Given the description of an element on the screen output the (x, y) to click on. 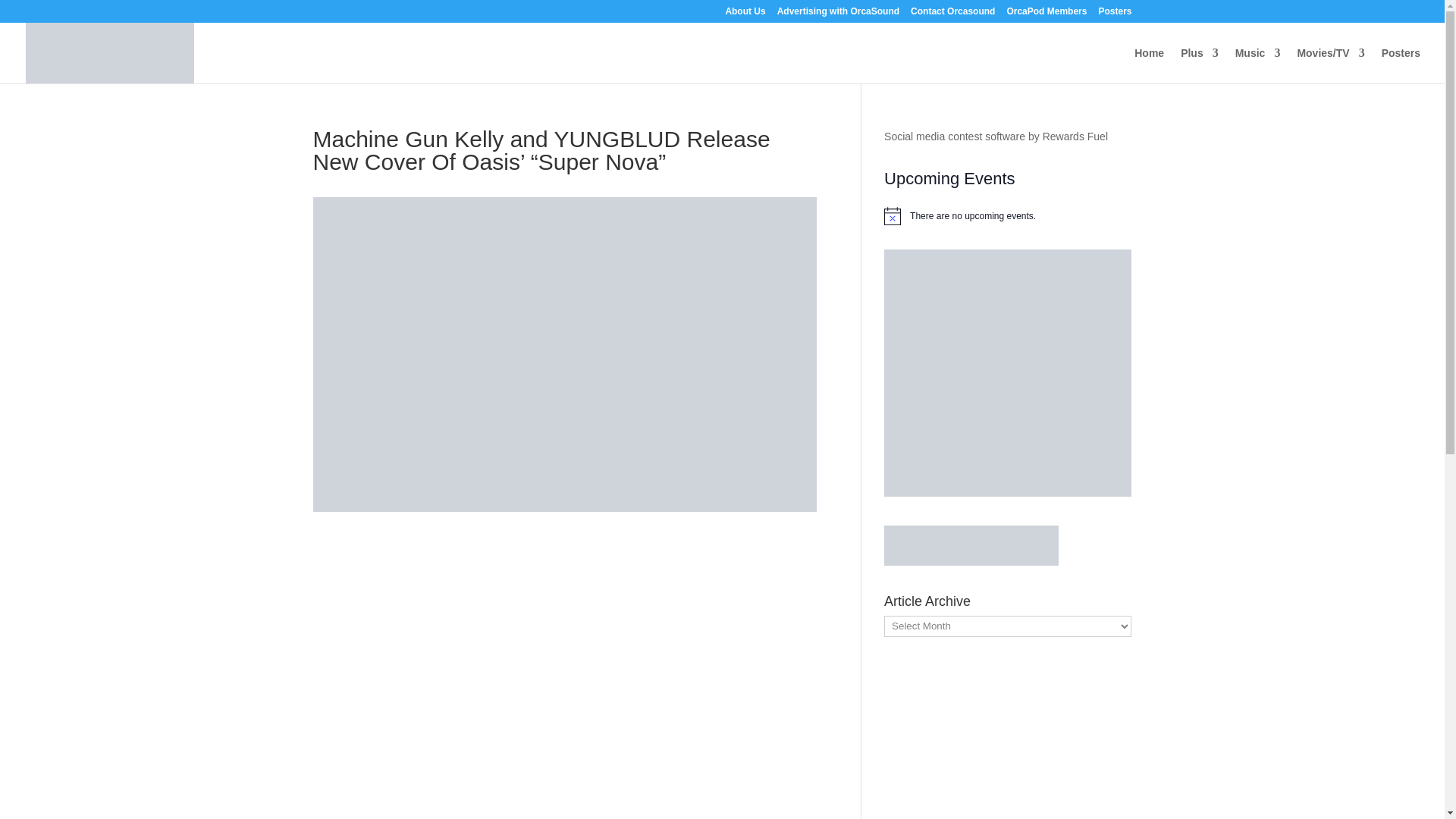
Advertising with OrcaSound (838, 14)
Contact Orcasound (952, 14)
OrcaPod Members (1046, 14)
Music (1257, 65)
Plus (1199, 65)
About Us (745, 14)
Posters (1114, 14)
